Given the description of an element on the screen output the (x, y) to click on. 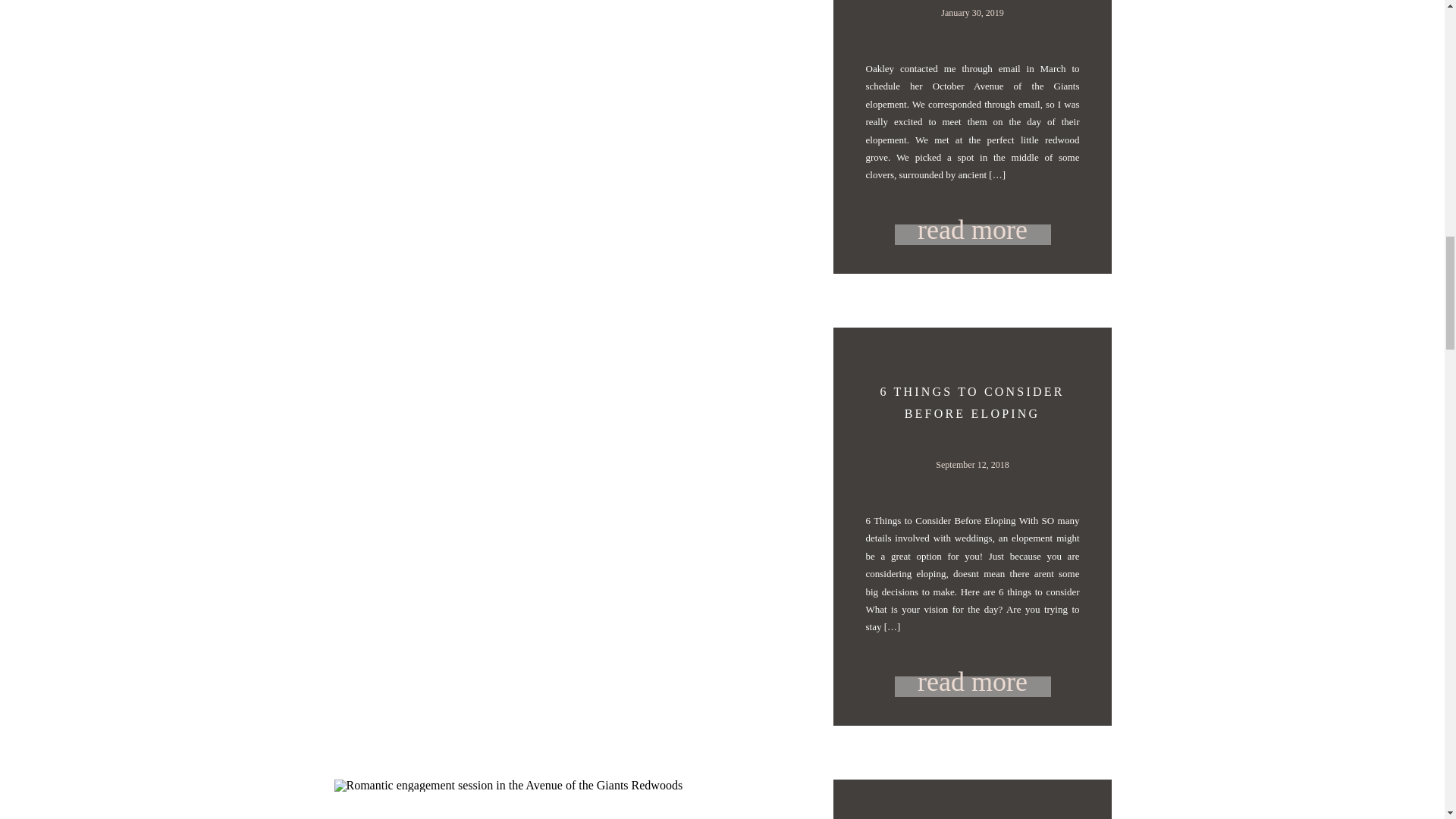
read more (973, 679)
read more (973, 227)
6 Things to Consider Before Eloping (973, 679)
6 THINGS TO CONSIDER BEFORE ELOPING (971, 402)
6 Things to Consider Before Eloping (973, 686)
